Given the description of an element on the screen output the (x, y) to click on. 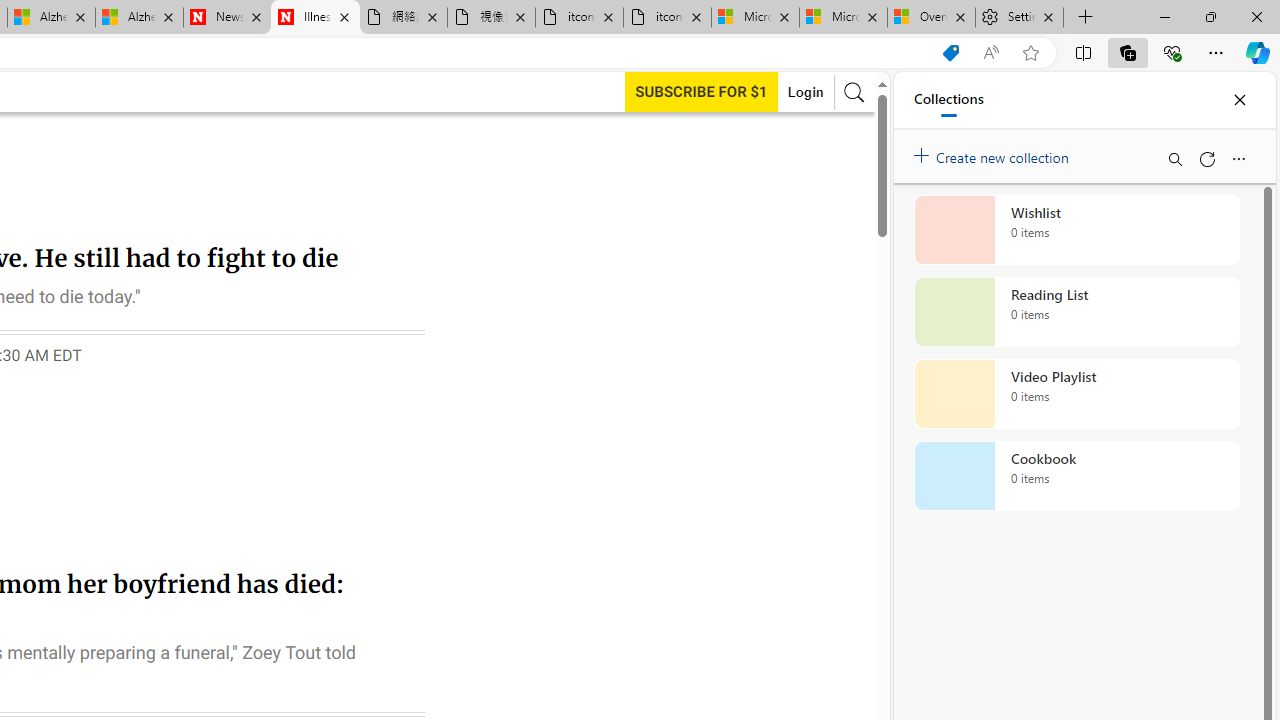
AutomationID: search-btn (854, 92)
Newsweek - News, Analysis, Politics, Business, Technology (227, 17)
Video Playlist collection, 0 items (1076, 394)
